Given the description of an element on the screen output the (x, y) to click on. 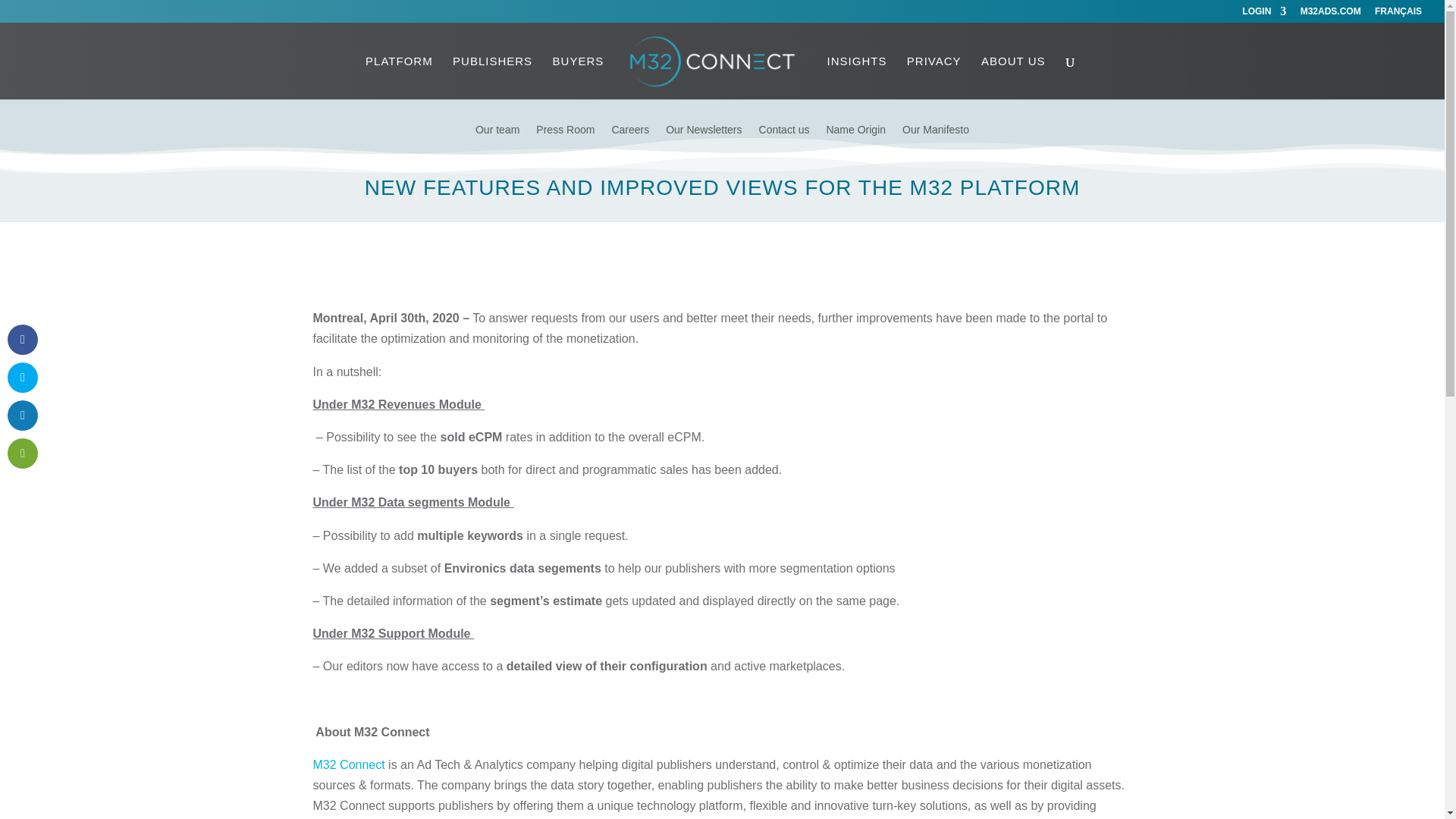
PUBLISHERS (492, 77)
M32ADS.COM (1330, 14)
M32 Connect (348, 764)
Our team (497, 140)
Name Origin (855, 140)
Careers (630, 140)
Our Manifesto (935, 140)
INSIGHTS (856, 77)
BUYERS (578, 77)
Contact us (783, 140)
PLATFORM (398, 77)
Press Room (564, 140)
Our Newsletters (703, 140)
LOGIN (1263, 14)
PRIVACY (933, 77)
